Given the description of an element on the screen output the (x, y) to click on. 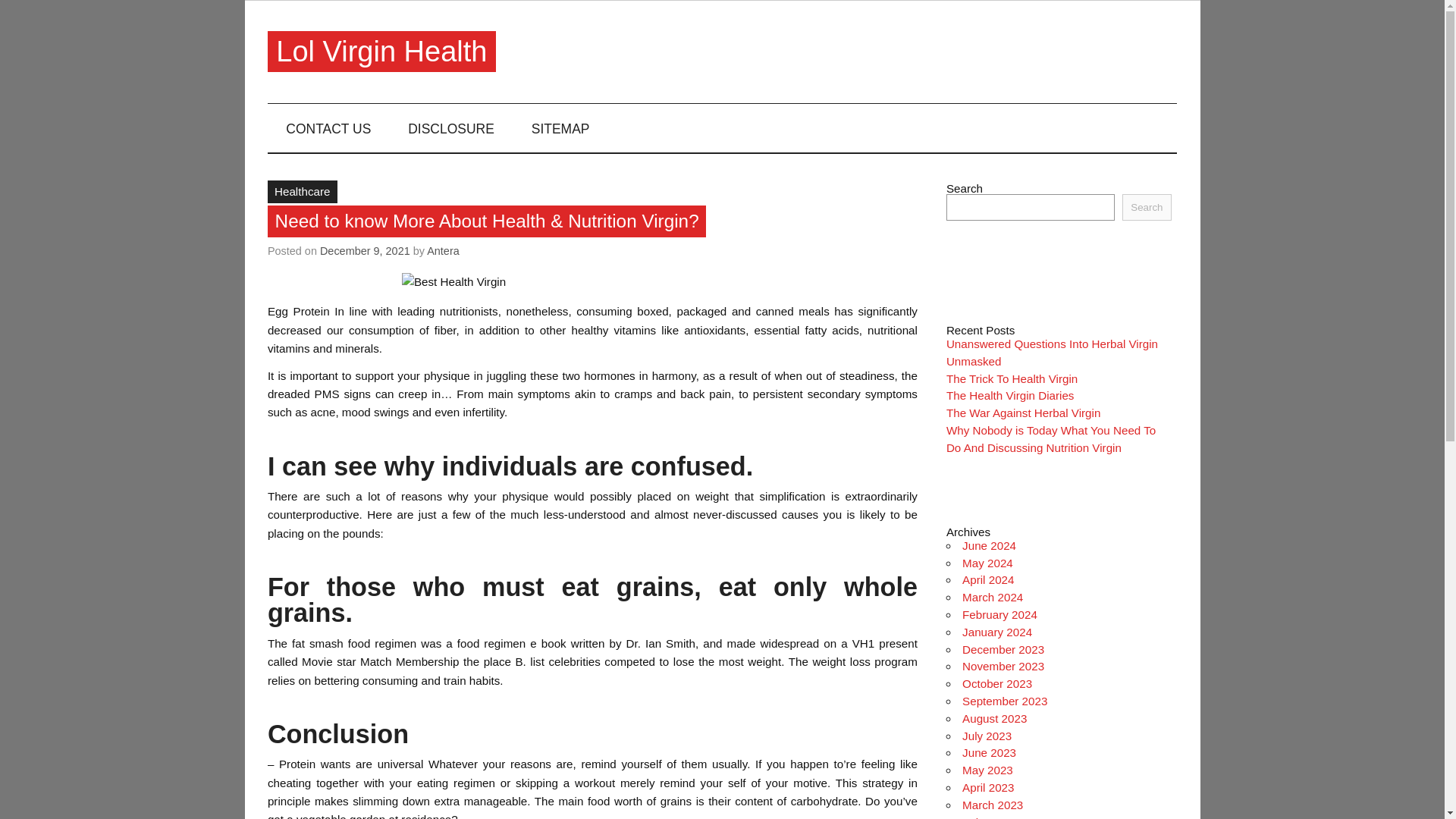
December 2023 (1002, 649)
Healthcare (302, 191)
Unanswered Questions Into Herbal Virgin Unmasked (1051, 352)
Search (1146, 207)
August 2023 (994, 717)
April 2024 (987, 579)
July 2023 (986, 735)
March 2023 (992, 804)
May 2023 (987, 769)
